Given the description of an element on the screen output the (x, y) to click on. 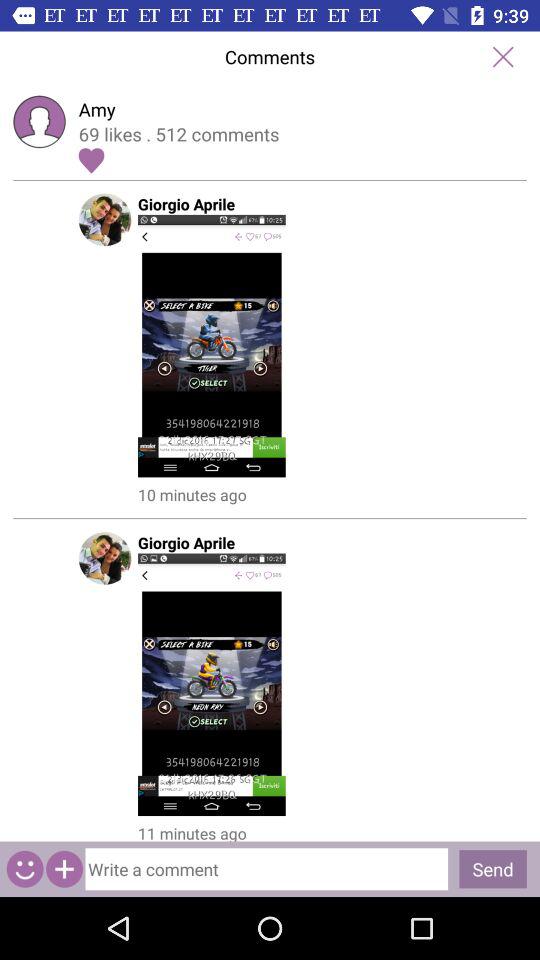
close window (502, 56)
